Given the description of an element on the screen output the (x, y) to click on. 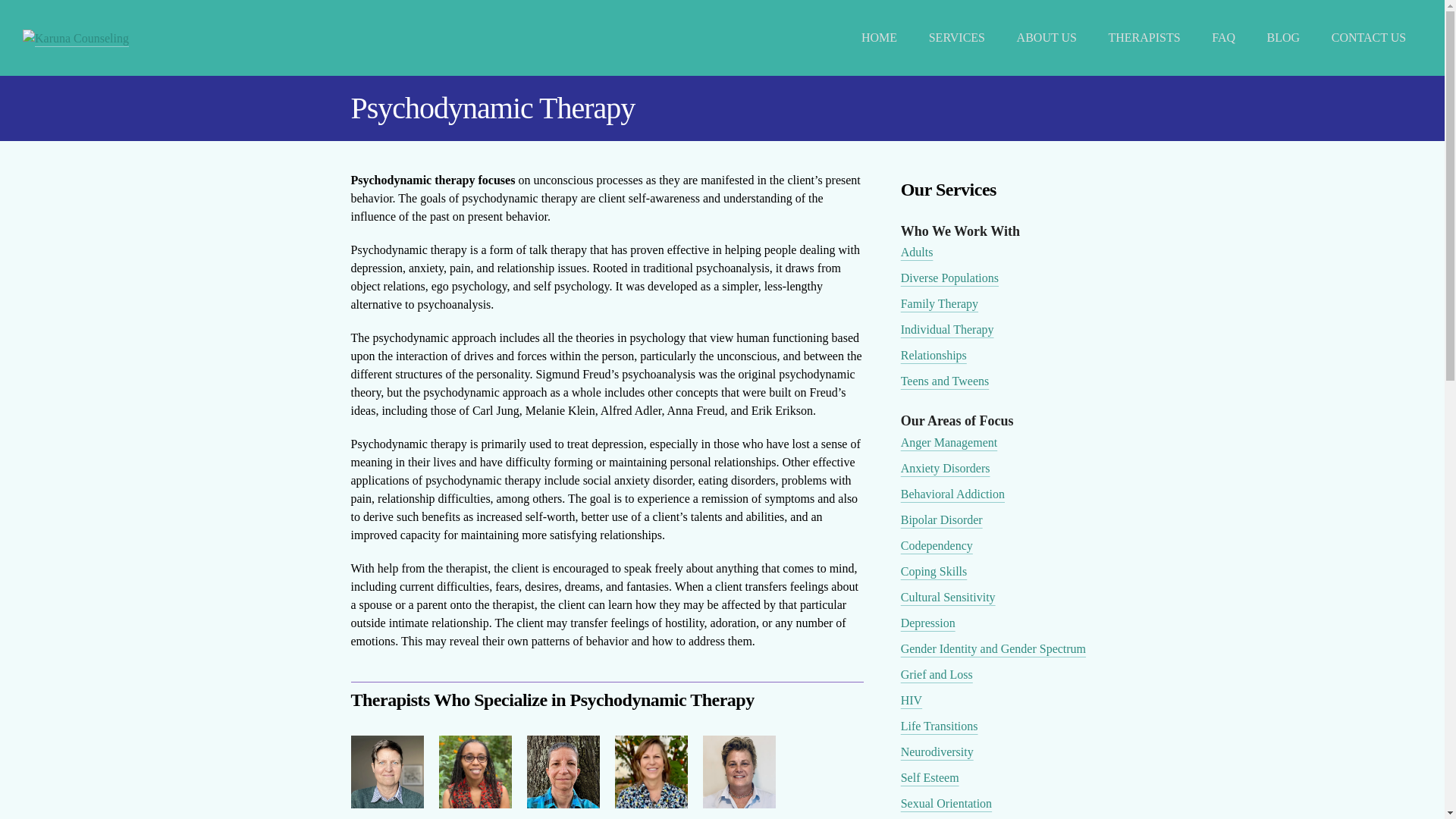
HOME (878, 37)
Cultural Sensitivity (948, 596)
Grief and Loss (936, 674)
Gender Identity and Gender Spectrum (993, 648)
Codependency (936, 545)
Behavioral Addiction (952, 493)
Teens and Tweens (945, 380)
THERAPISTS (1144, 37)
Sexual Orientation (946, 802)
Individual Therapy (947, 328)
